Given the description of an element on the screen output the (x, y) to click on. 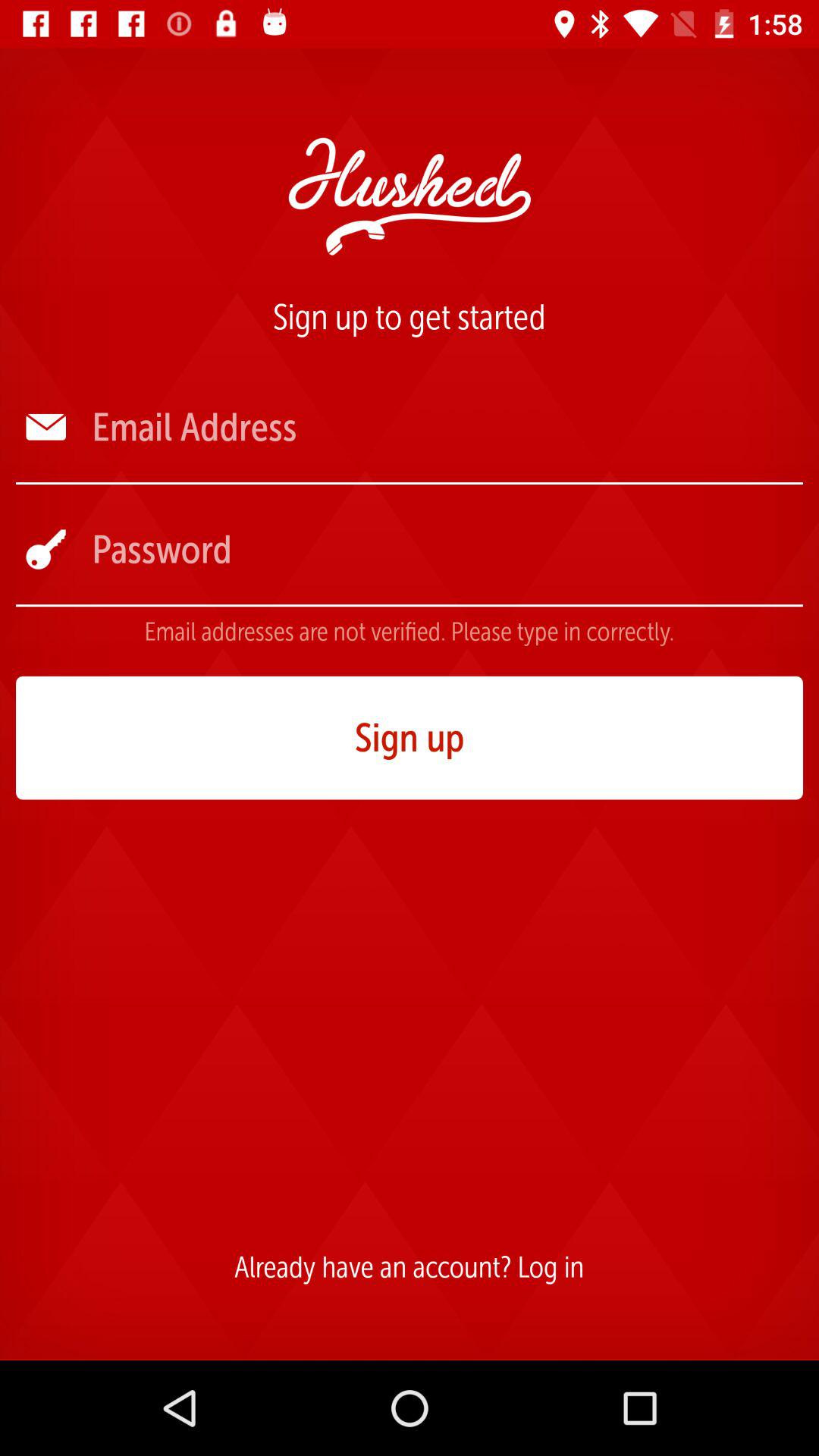
open the icon below the sign up to (446, 427)
